Given the description of an element on the screen output the (x, y) to click on. 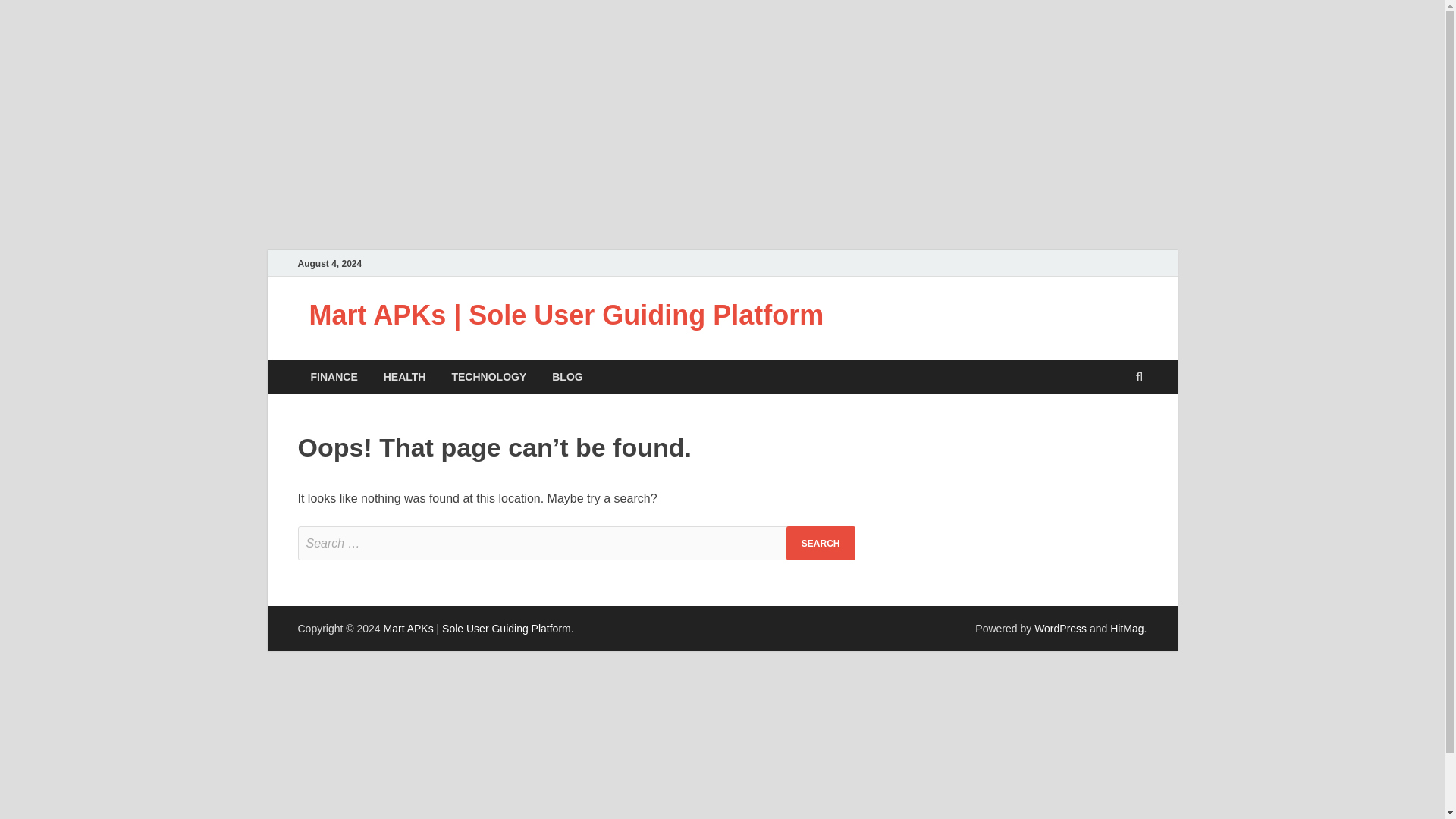
BLOG (566, 376)
HitMag (1125, 628)
HitMag WordPress Theme (1125, 628)
FINANCE (333, 376)
WordPress (1059, 628)
Search (821, 543)
TECHNOLOGY (488, 376)
Search (821, 543)
WordPress (1059, 628)
Search (821, 543)
HEALTH (405, 376)
